Given the description of an element on the screen output the (x, y) to click on. 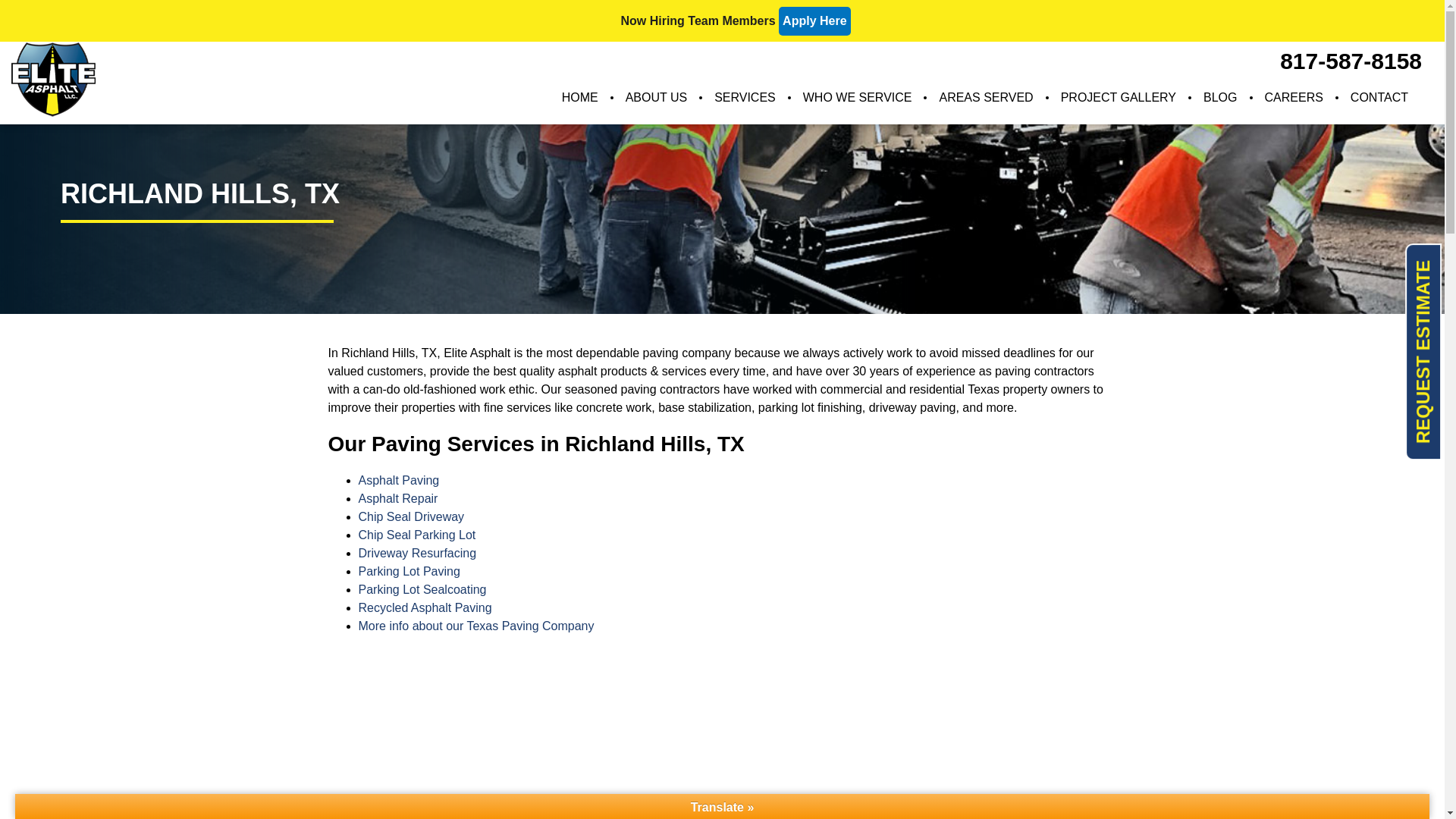
AREAS SERVED (985, 97)
SERVICES (744, 97)
ABOUT US (656, 97)
WHO WE SERVICE (857, 97)
817-587-8158 (1350, 60)
HOME (579, 97)
